Given the description of an element on the screen output the (x, y) to click on. 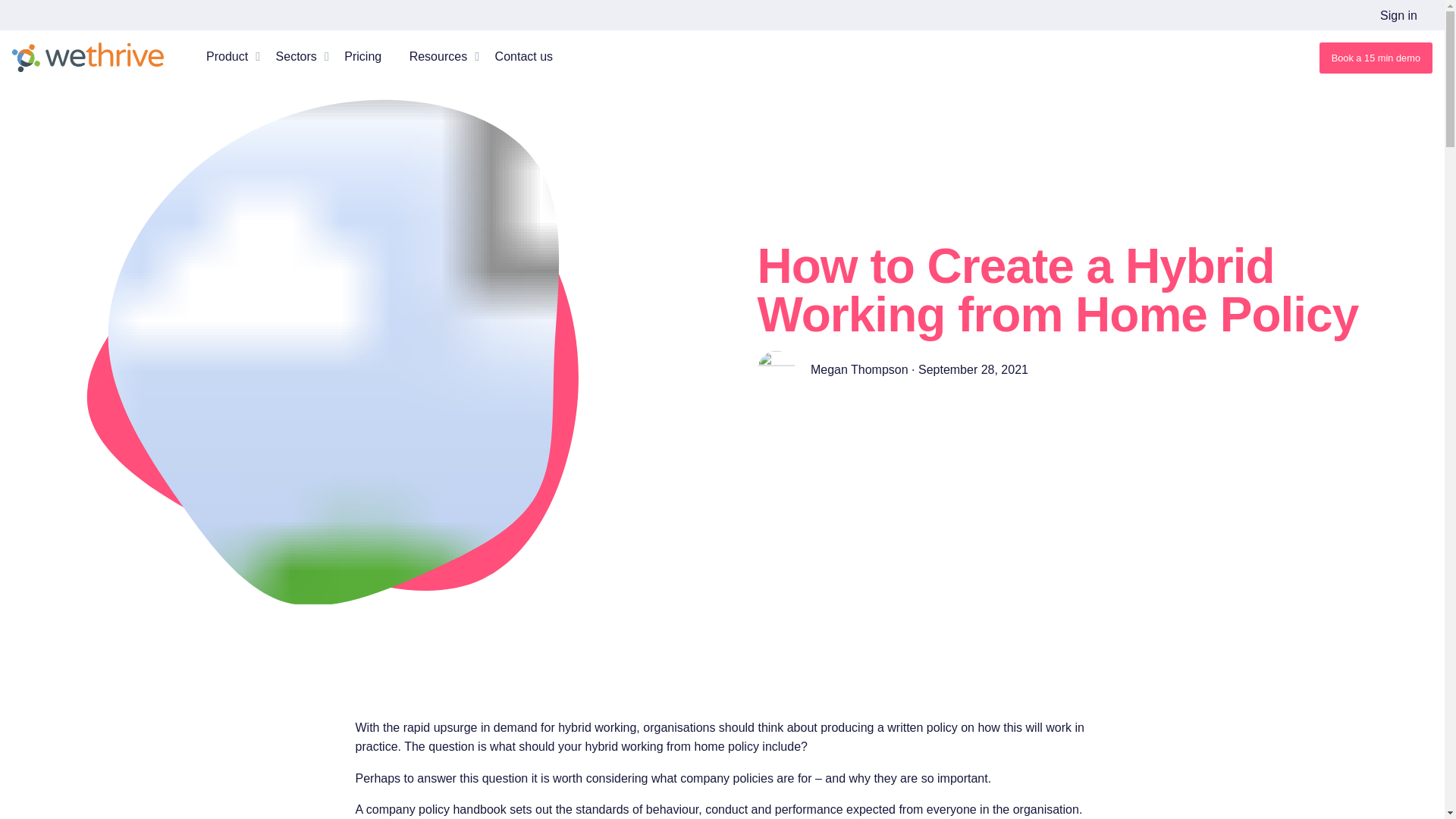
WeThrive (87, 57)
Product (226, 56)
Sign in (1398, 15)
Share this on LinkedIn (774, 454)
Share this on Facebook (762, 454)
Resources (438, 56)
Contact us (524, 56)
Share this on Twitter (786, 454)
Pricing (362, 56)
Book a 15 min demo (1376, 57)
Sectors (296, 56)
